Given the description of an element on the screen output the (x, y) to click on. 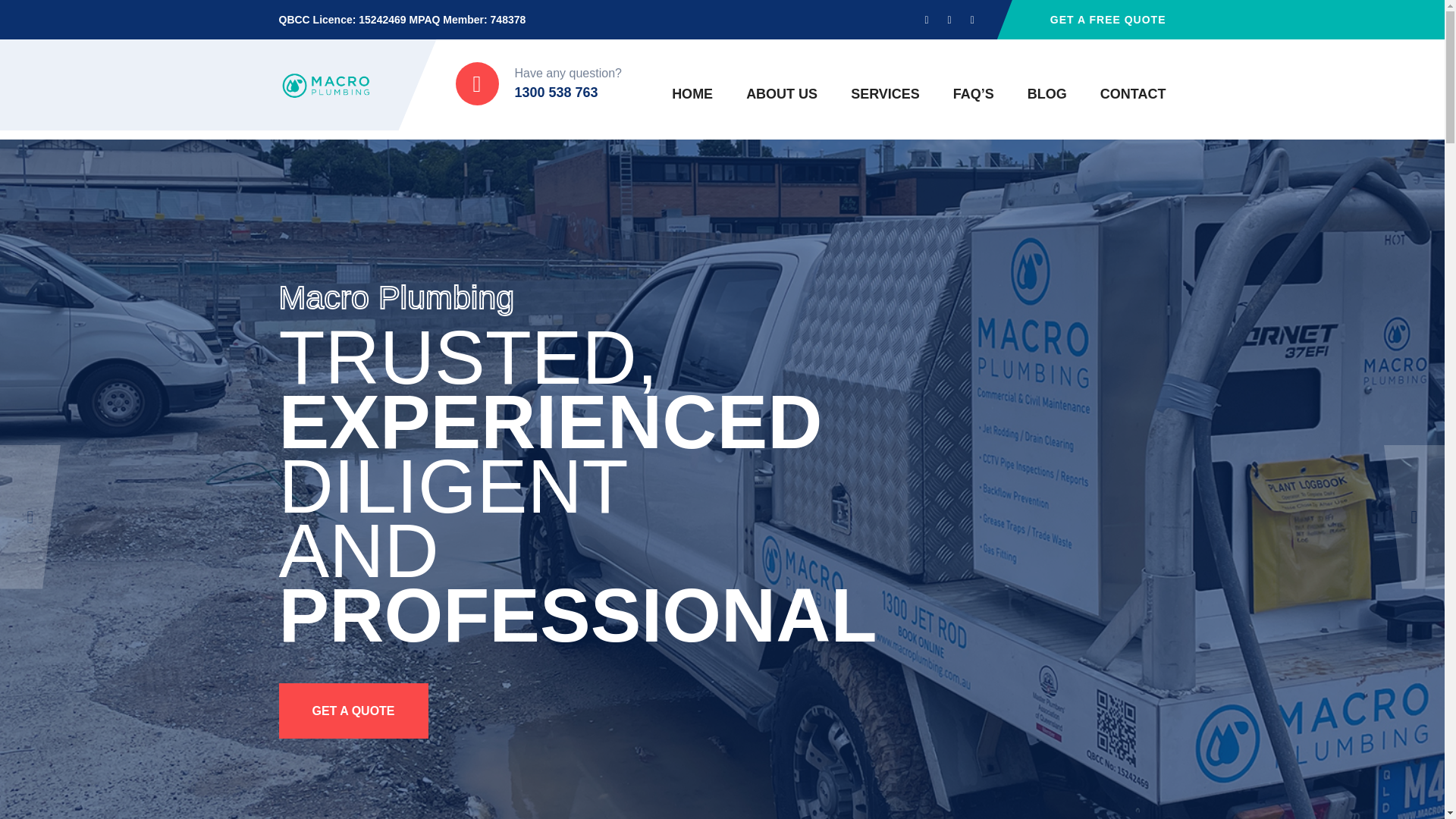
CONTACT (1133, 93)
SERVICES (885, 93)
Blog (1047, 93)
Macro Plumbing (325, 84)
About Us (780, 93)
Contact (1133, 93)
ABOUT US (780, 93)
GET A FREE QUOTE (1107, 19)
Services (885, 93)
Home (692, 93)
BLOG (1047, 93)
HOME (692, 93)
1300 538 763 (554, 92)
